Given the description of an element on the screen output the (x, y) to click on. 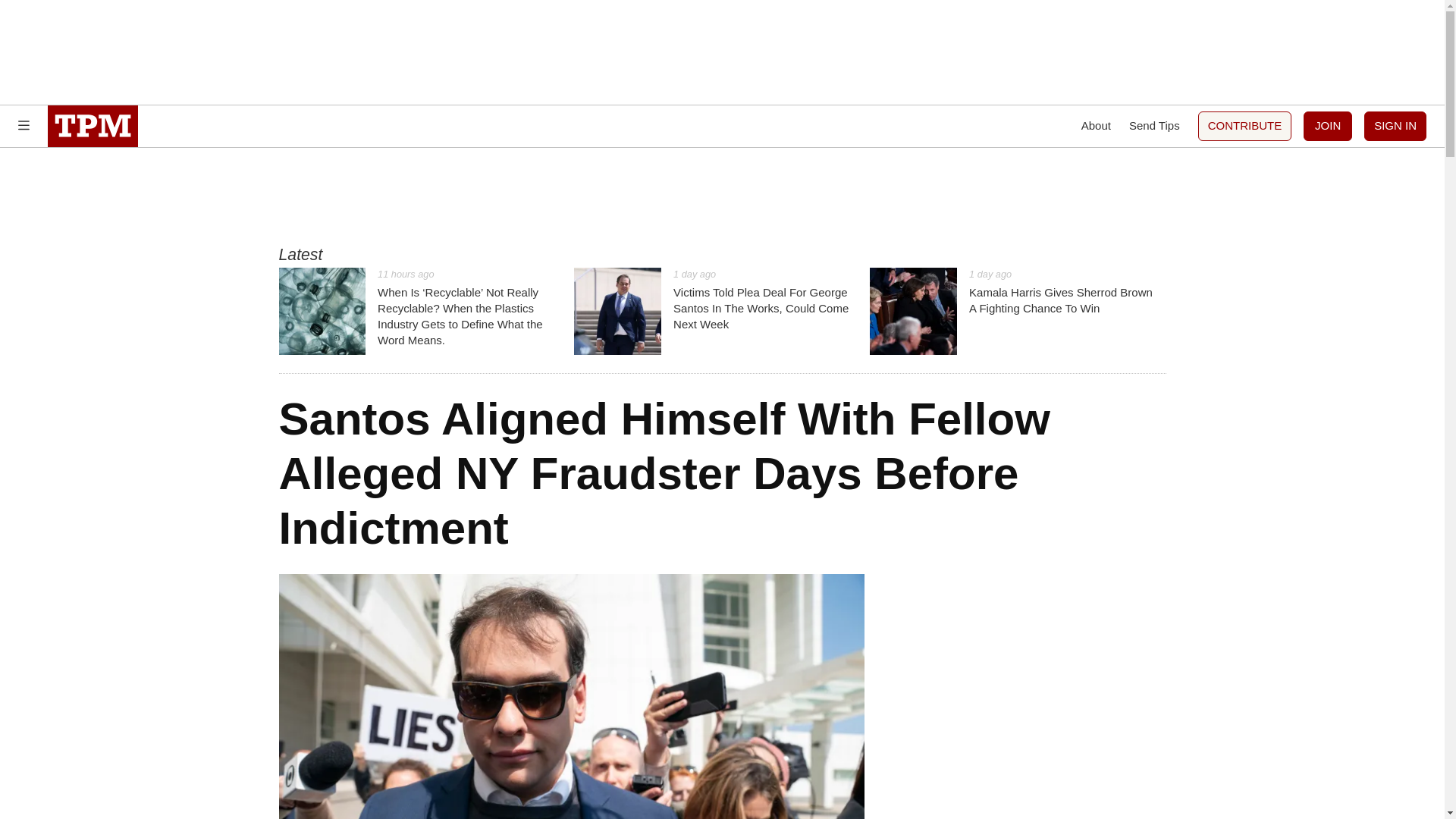
About (1095, 125)
CONTRIBUTE (1245, 125)
Send Tips (1154, 125)
SIGN IN (1395, 125)
JOIN (1327, 125)
